Given the description of an element on the screen output the (x, y) to click on. 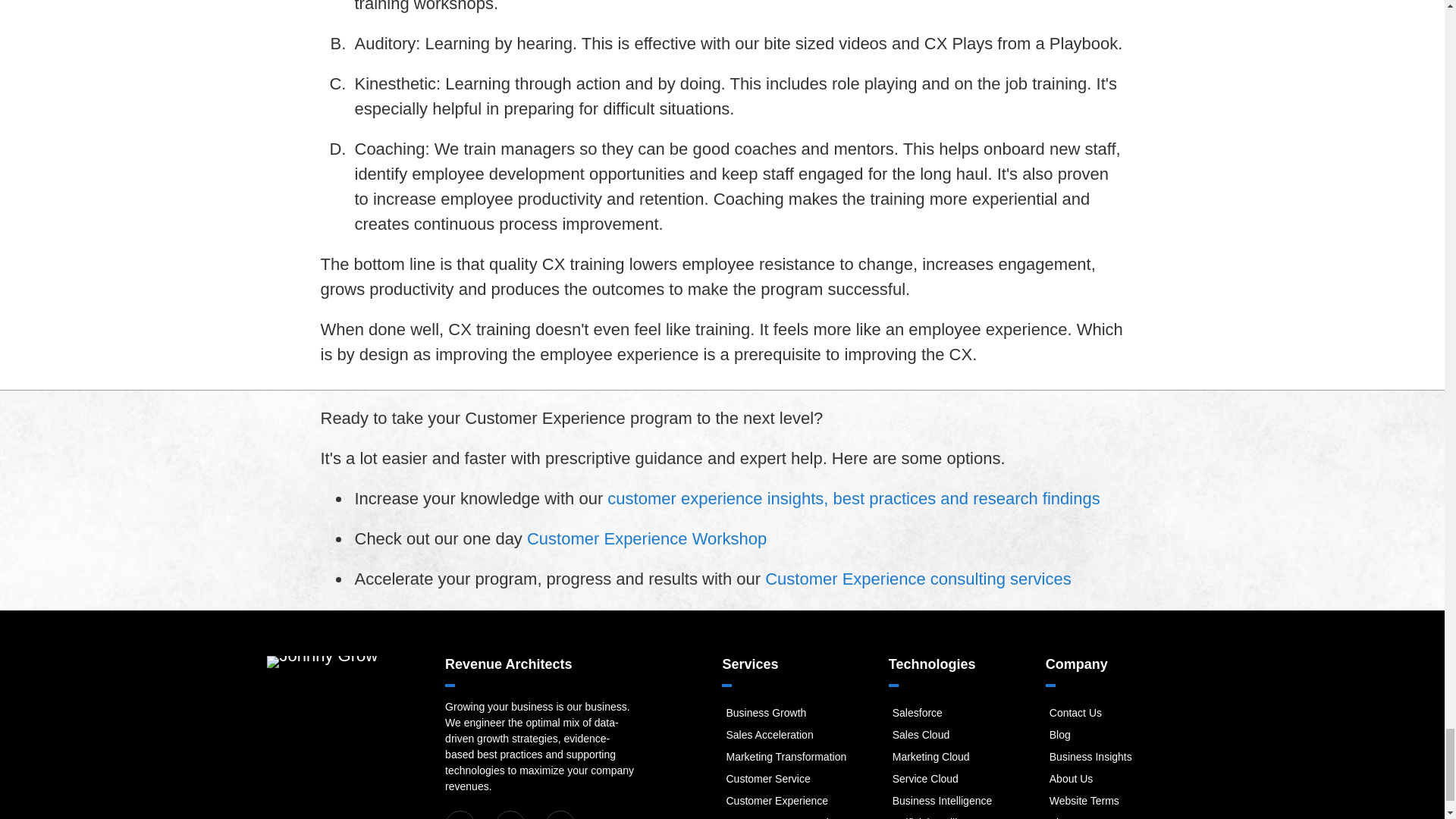
Johnny Grow (321, 662)
Customer Service Consultant (767, 778)
Company Turnaround Consultant (776, 817)
Sales Consultant (768, 734)
Marketing Consultant (785, 756)
Business Growth Consultant (765, 712)
Customer Experience Consultant (776, 800)
